Given the description of an element on the screen output the (x, y) to click on. 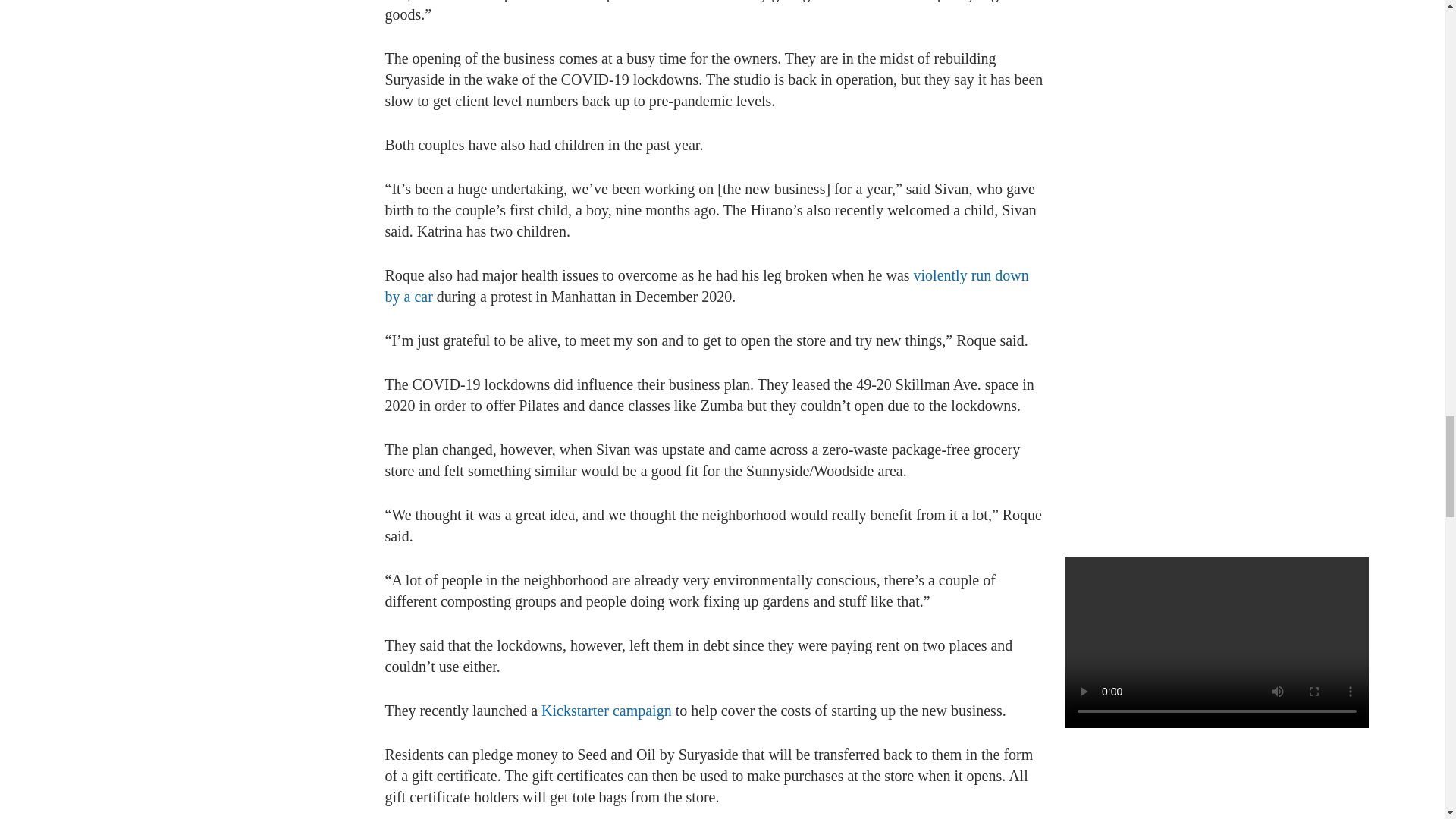
violently run down by a car (707, 285)
Kickstarter campaign (606, 710)
